Given the description of an element on the screen output the (x, y) to click on. 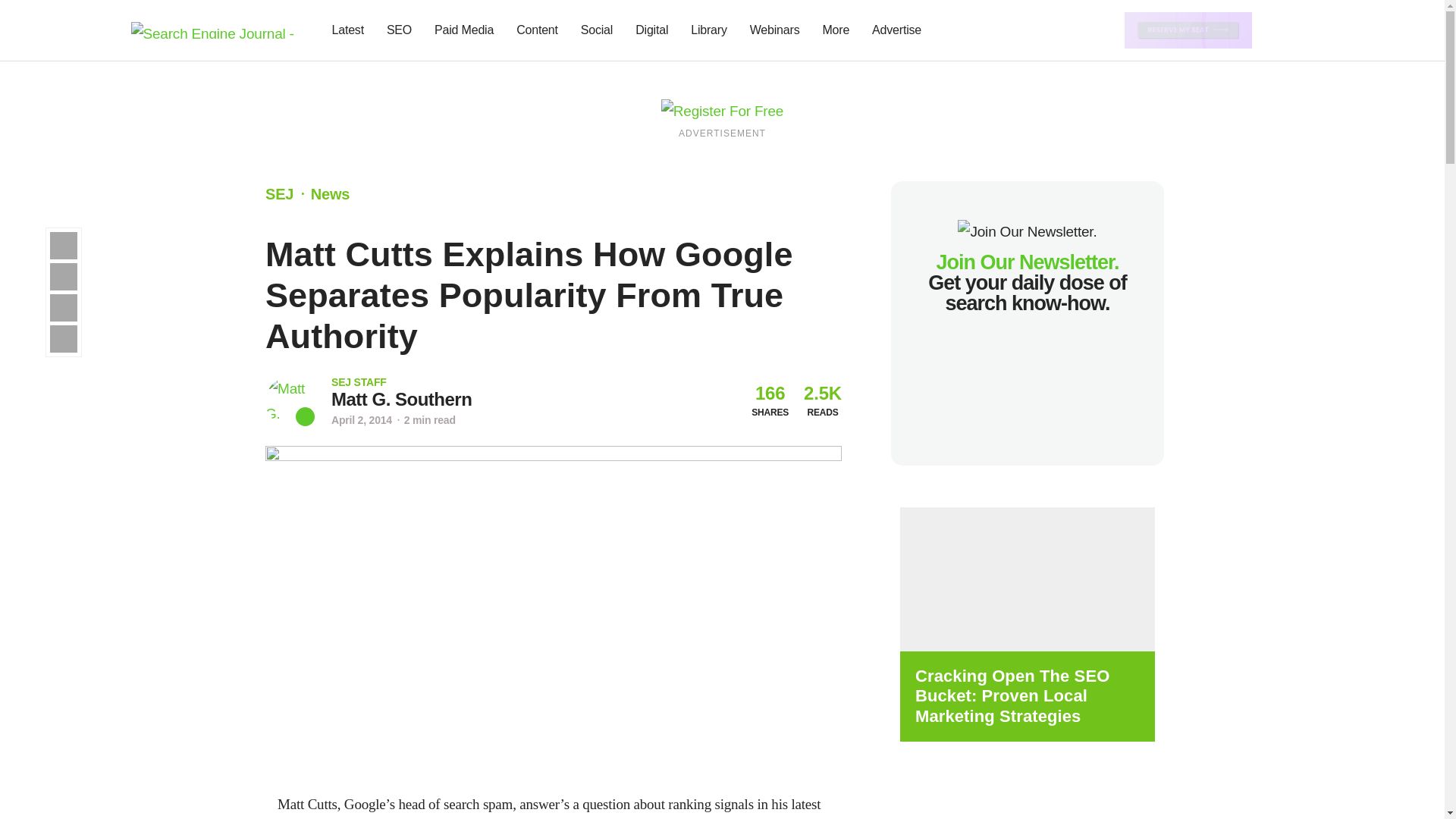
Register For Free (722, 109)
Register For Free (1187, 28)
Go to Author Page (401, 399)
Paid Media (464, 30)
Go to Author Page (289, 400)
Subscribe to our Newsletter (1277, 30)
Latest (347, 30)
